Given the description of an element on the screen output the (x, y) to click on. 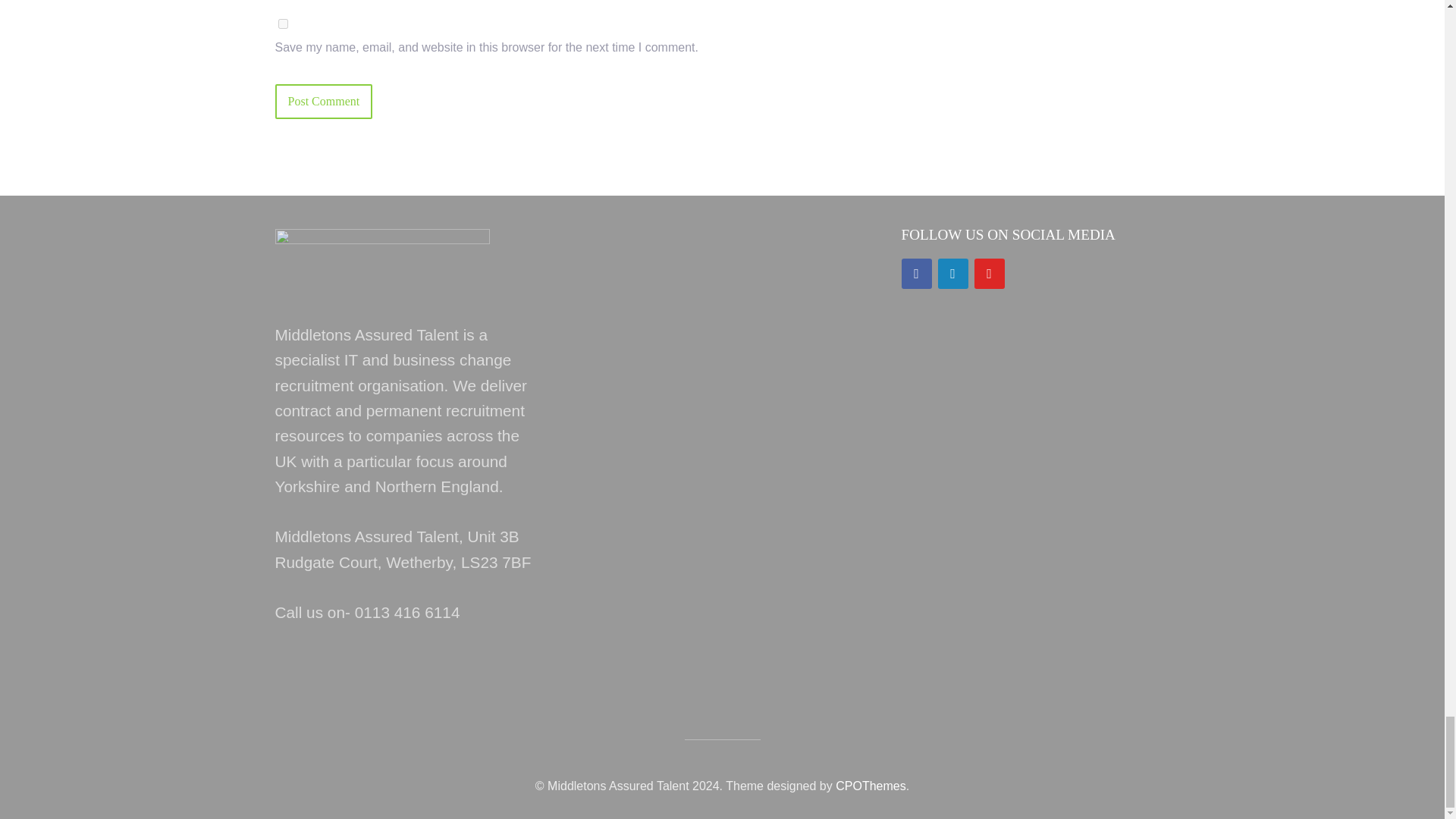
Facebook (916, 273)
CPOThemes (870, 785)
YouTube (989, 273)
LinkedIn (952, 273)
Post Comment (323, 101)
Post Comment (323, 101)
yes (282, 23)
